Given the description of an element on the screen output the (x, y) to click on. 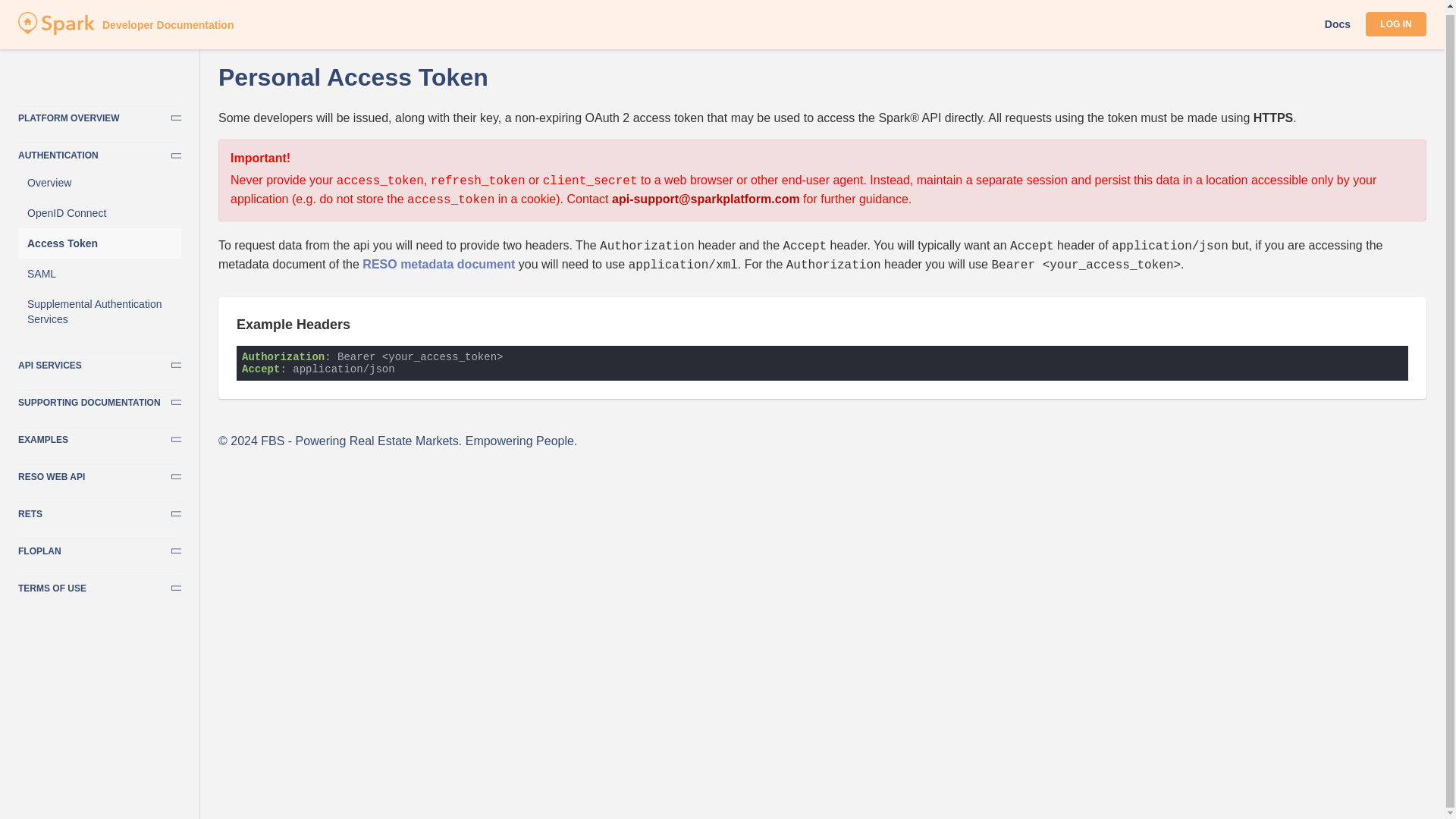
Click to show or hide menu items (98, 584)
Click to show or hide menu items (98, 510)
Click to show or hide menu items (98, 361)
Access Token (98, 243)
LOG IN (1395, 20)
Developer Documentation (55, 27)
Click to show or hide menu items (98, 435)
Overview (98, 182)
Supplemental Authentication Services (98, 311)
SAML (98, 273)
Click to show or hide menu items (98, 547)
Click to show or hide menu items (98, 398)
Click to show or hide menu items (98, 473)
OpenID Connect (98, 213)
Click to show or hide menu items (98, 151)
